Given the description of an element on the screen output the (x, y) to click on. 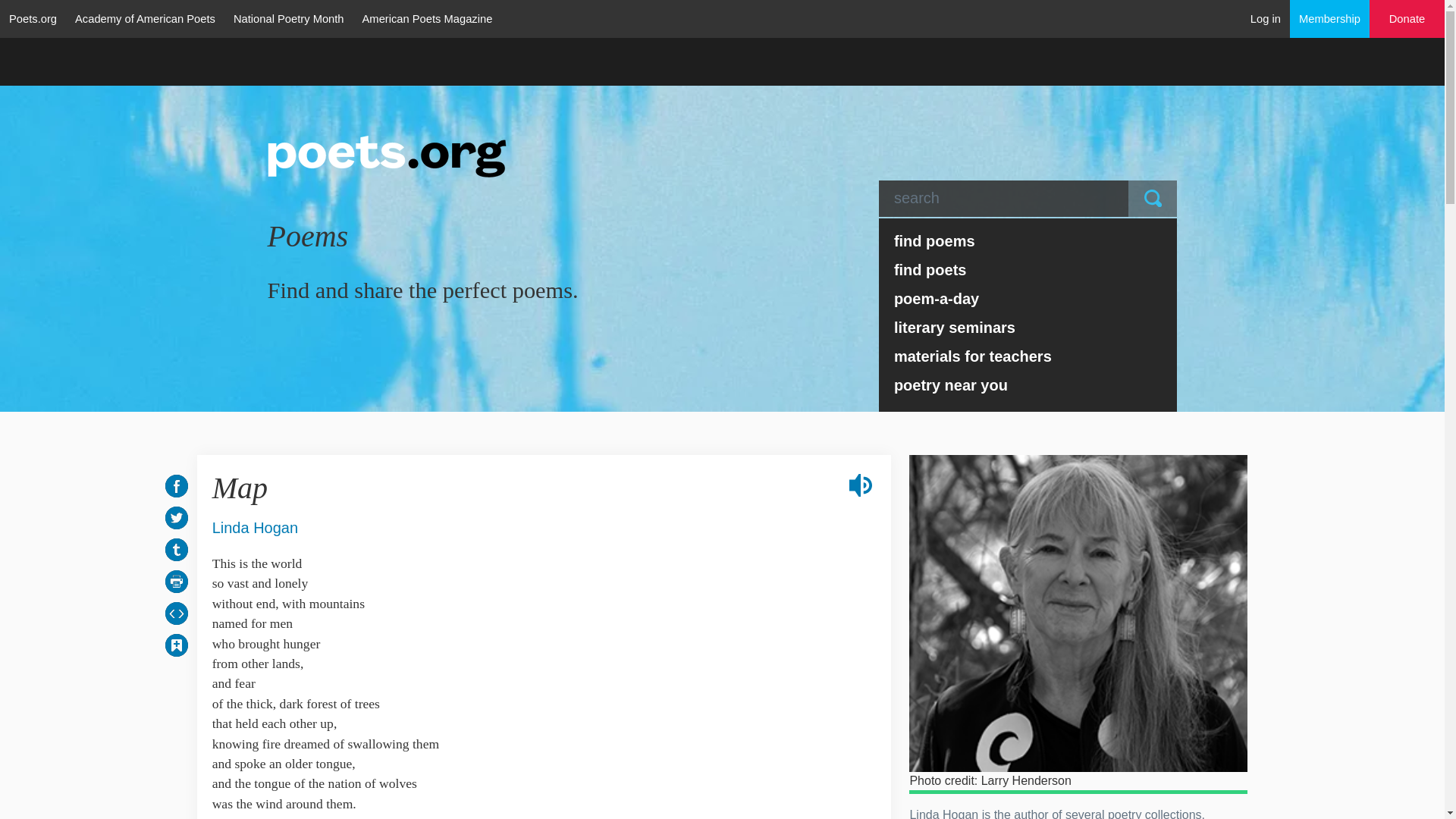
poem-a-day (1028, 298)
find poets (1028, 269)
poetry near you (1028, 385)
find poems (1028, 240)
Poets.org (32, 18)
materials for teachers (1028, 356)
Log in (1265, 18)
poetry near you (1028, 385)
materials for teachers (1028, 356)
Membership (1330, 18)
literary seminars (1028, 327)
Support the mission of the Academy of American Poets (1407, 18)
literary seminars (1028, 327)
Academy of American Poets (144, 18)
Become a member of the Academy of American Poets (1330, 18)
